Given the description of an element on the screen output the (x, y) to click on. 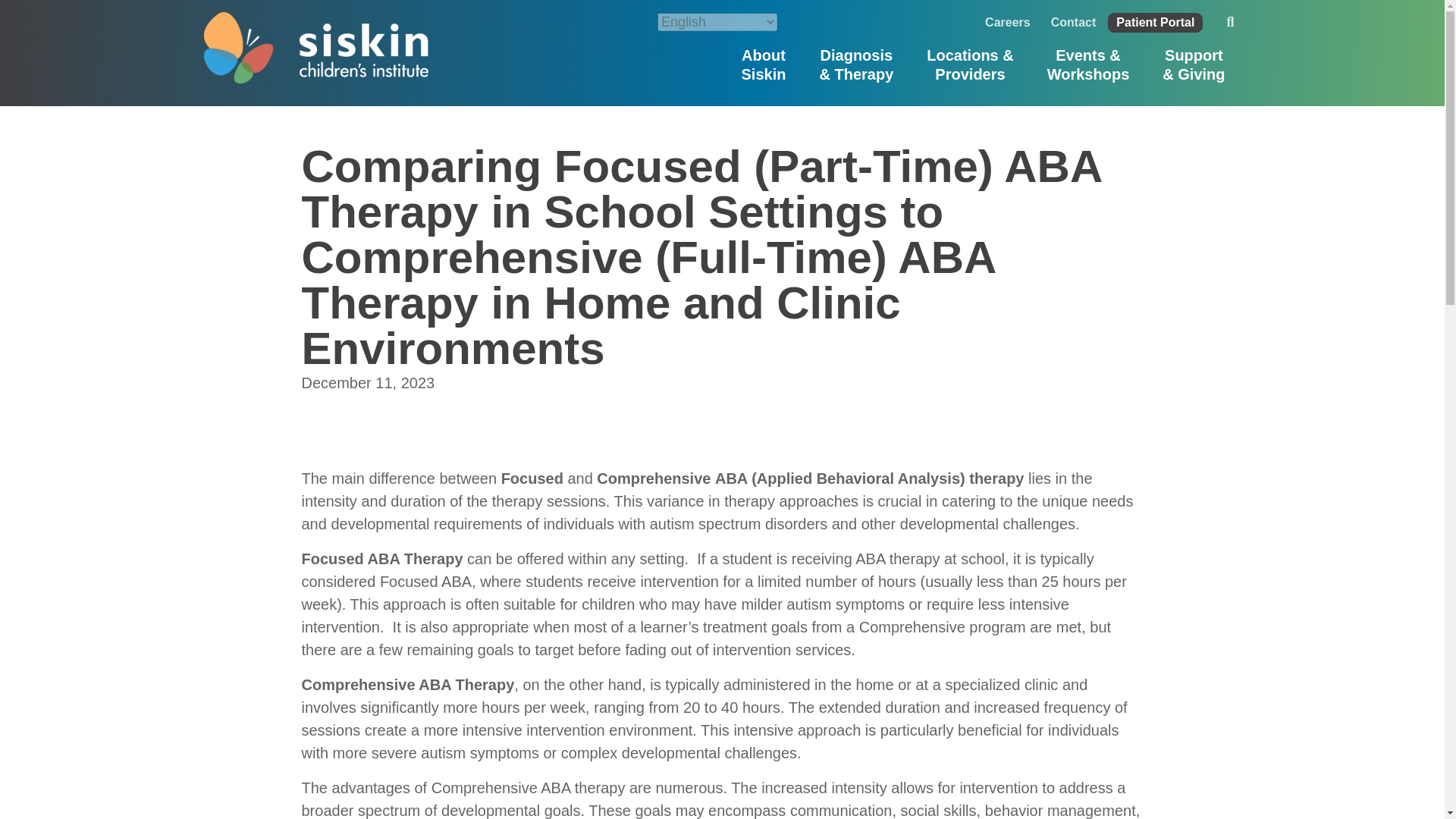
Patient Portal (1155, 22)
Careers (1007, 22)
Contact (763, 65)
Search Button (1073, 22)
